Given the description of an element on the screen output the (x, y) to click on. 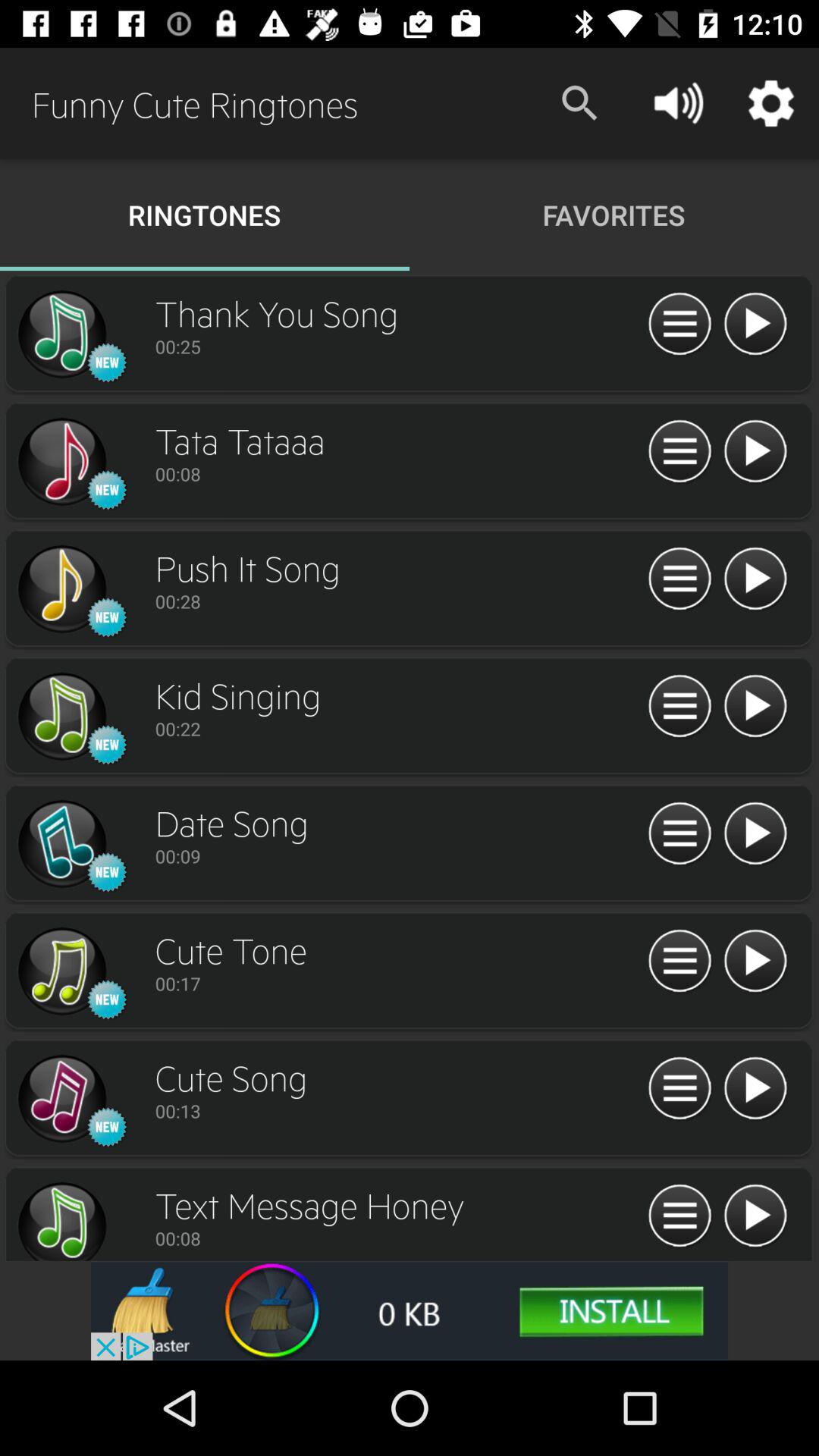
play ringtone (755, 579)
